Given the description of an element on the screen output the (x, y) to click on. 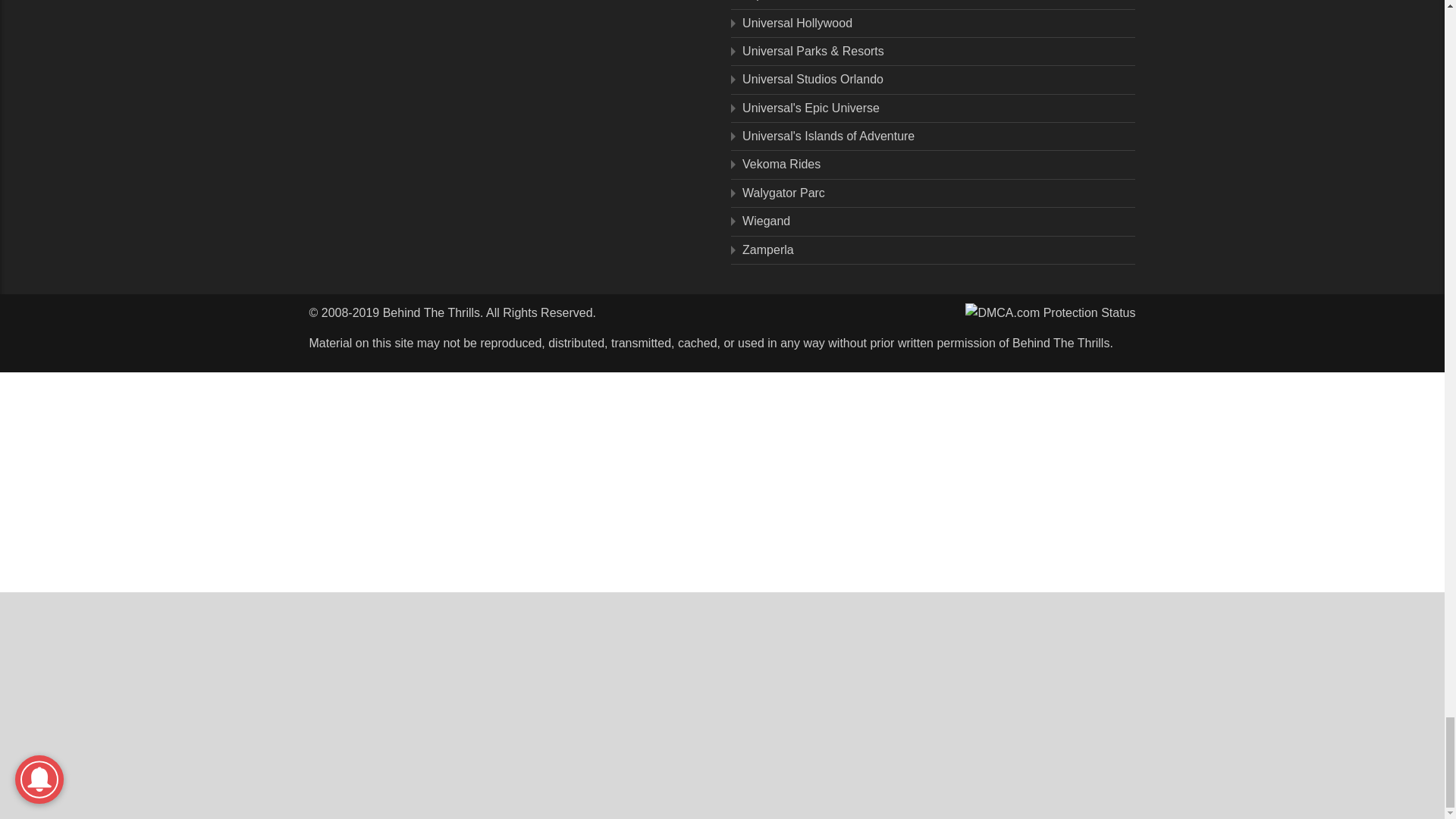
DMCA.com Protection Status (1050, 312)
